Given the description of an element on the screen output the (x, y) to click on. 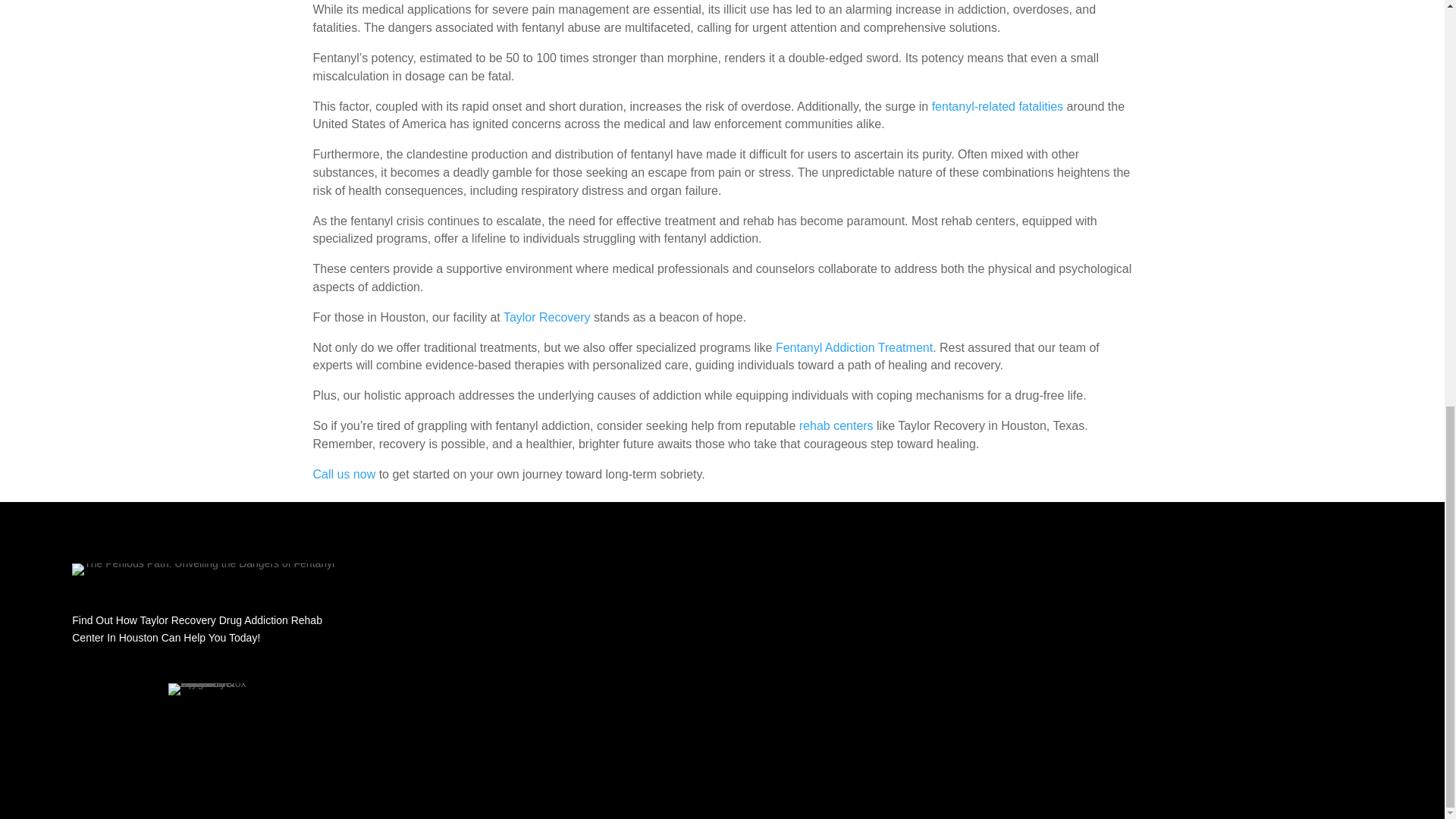
Taylor Recovery (547, 317)
Fentanyl Addiction Treatment (854, 347)
Call us now (344, 473)
The Perilous Path: Unveiling the Dangers of Fentanyl (202, 569)
fentanyl-related fatalities (996, 106)
rehab centers (836, 425)
